Given the description of an element on the screen output the (x, y) to click on. 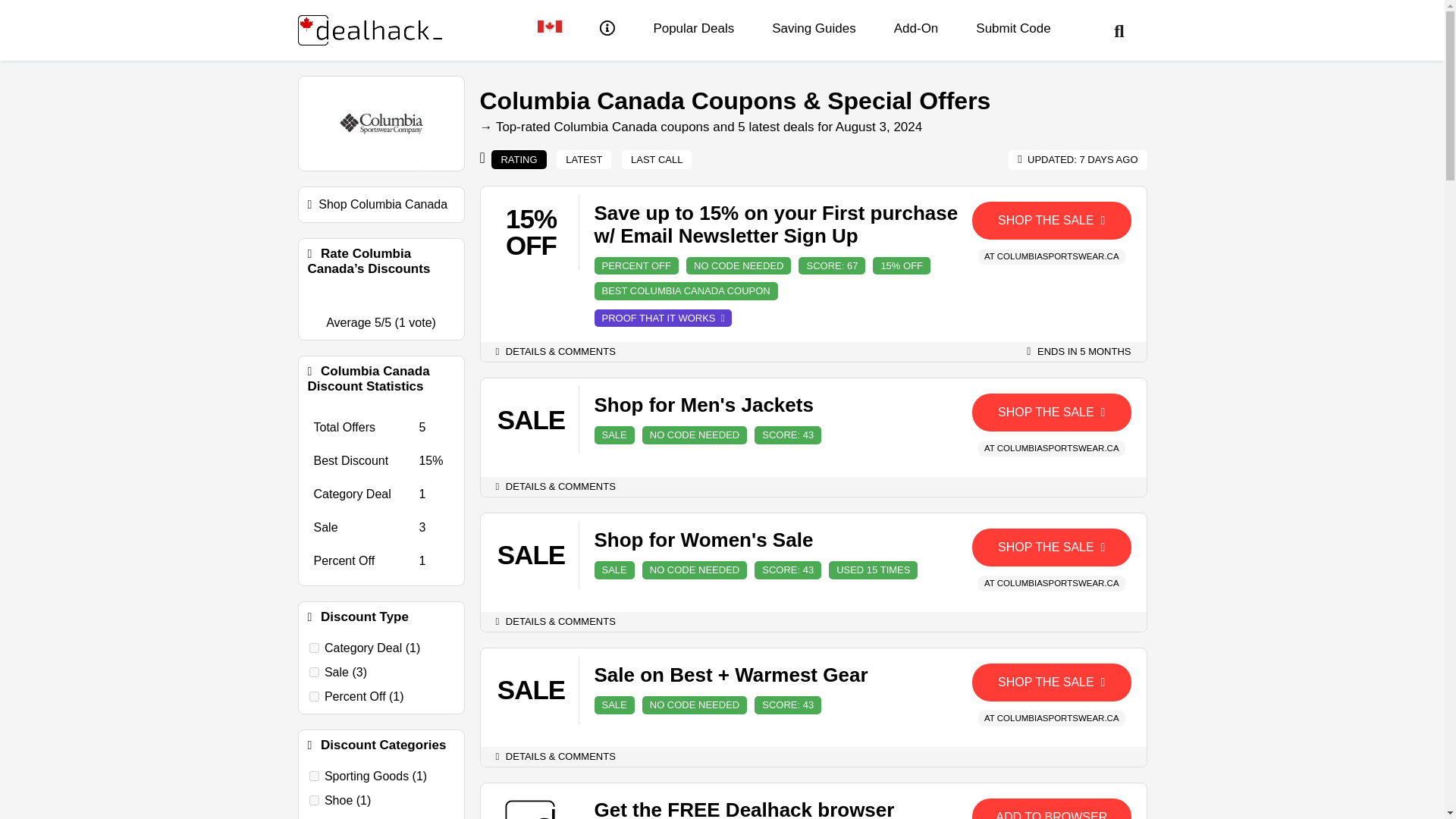
category (313, 647)
sale (313, 672)
Click to open site (1051, 808)
Click to open site (1051, 220)
Click to open site (1051, 682)
Affiliate Disclaimer (606, 30)
Popular Deals (692, 29)
Click to open site (1051, 412)
shoes (313, 800)
percent (313, 696)
Click to open site (1051, 547)
sports (313, 776)
